Given the description of an element on the screen output the (x, y) to click on. 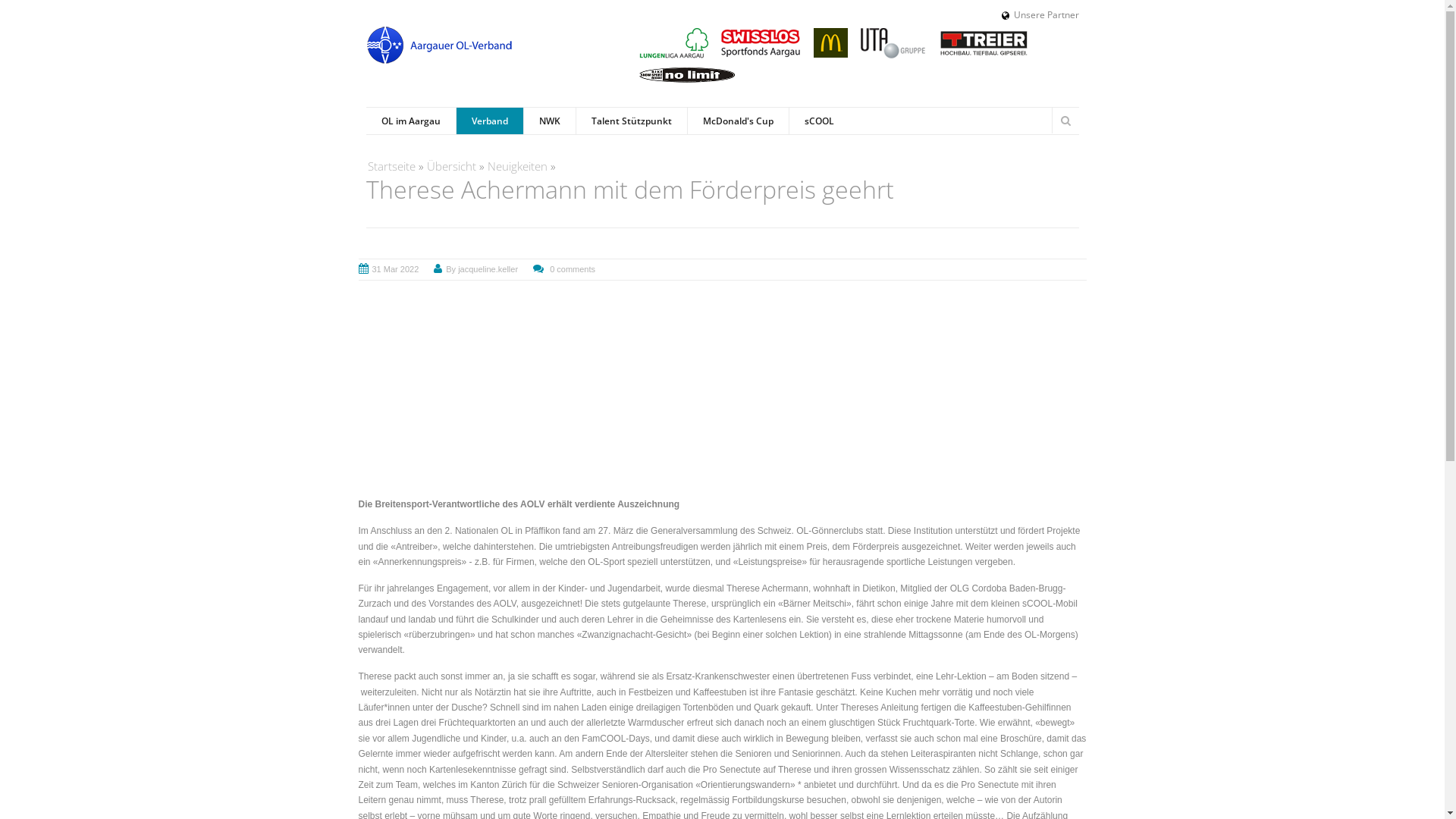
Geben Sie die Begriffe ein, nach denen Sie suchen. Element type: hover (1163, 120)
0 comments Element type: text (572, 268)
sCOOL Element type: text (818, 120)
Neuigkeiten Element type: text (516, 165)
Startseite Element type: hover (438, 45)
OL im Aargau Element type: text (410, 120)
McDonald's Cup Element type: text (737, 120)
Verband Element type: text (488, 120)
Startseite Element type: text (390, 165)
NWK Element type: text (549, 120)
